Given the description of an element on the screen output the (x, y) to click on. 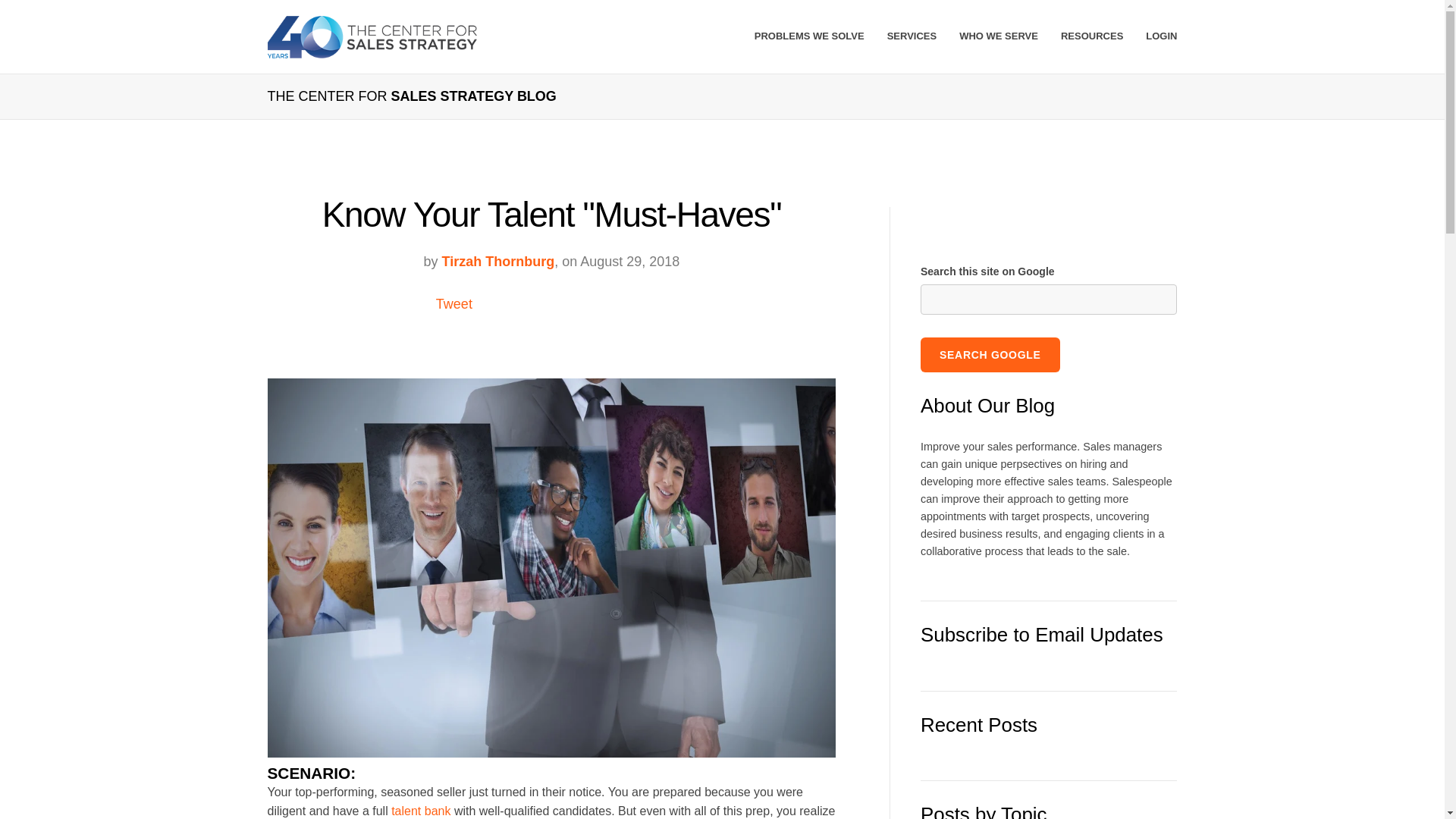
RESOURCES (1091, 35)
SERVICES (911, 35)
WHO WE SERVE (998, 35)
talent bank (420, 810)
SEARCH GOOGLE (989, 354)
Tweet (453, 304)
PROBLEMS WE SOLVE (809, 35)
Tirzah Thornburg (497, 261)
